Given the description of an element on the screen output the (x, y) to click on. 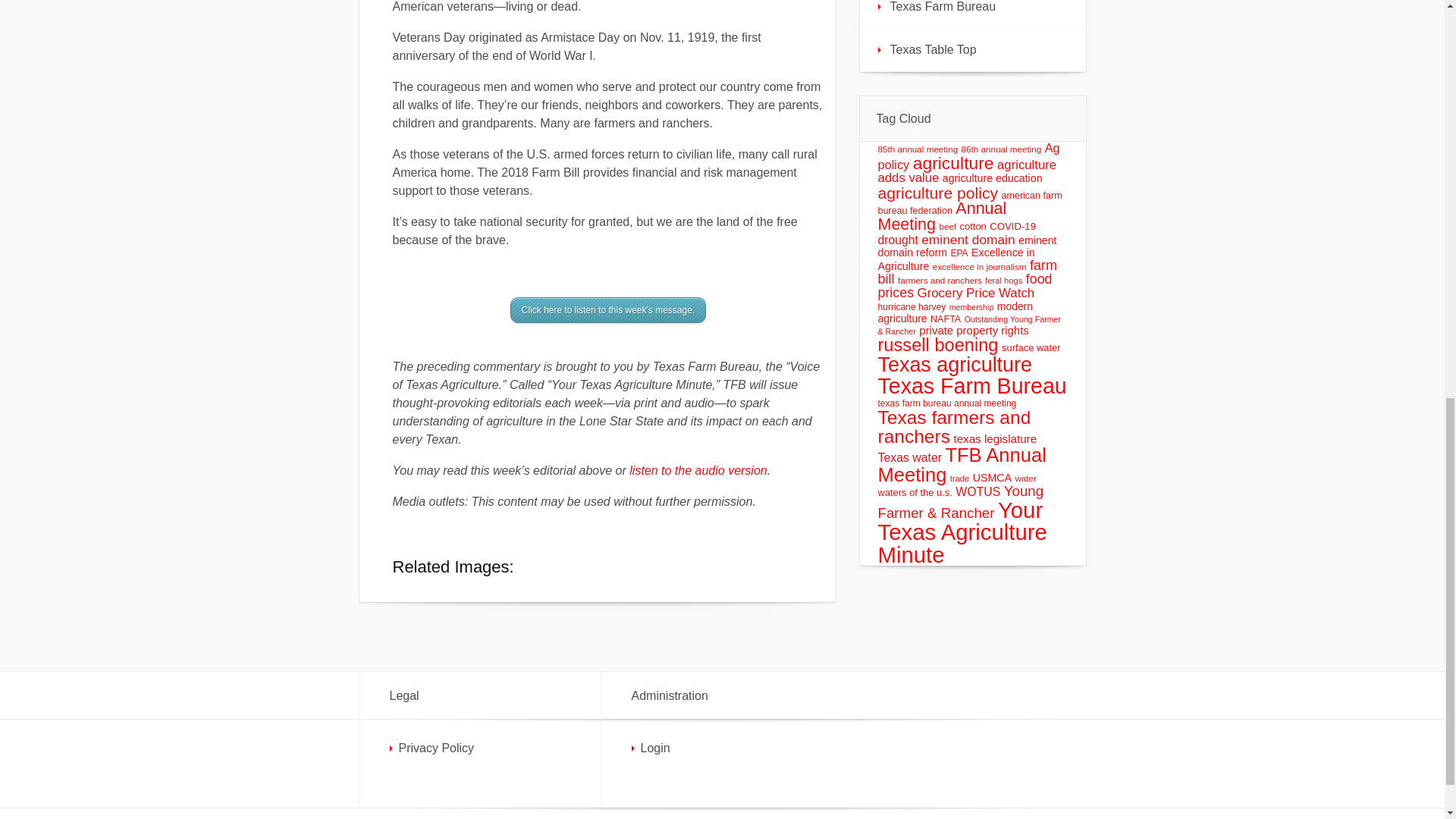
listen to the audio version. (699, 470)
85th annual meeting (917, 148)
Texas Table Top (973, 49)
Click here to listen to this week's message. (608, 309)
Texas Farm Bureau (973, 13)
